Given the description of an element on the screen output the (x, y) to click on. 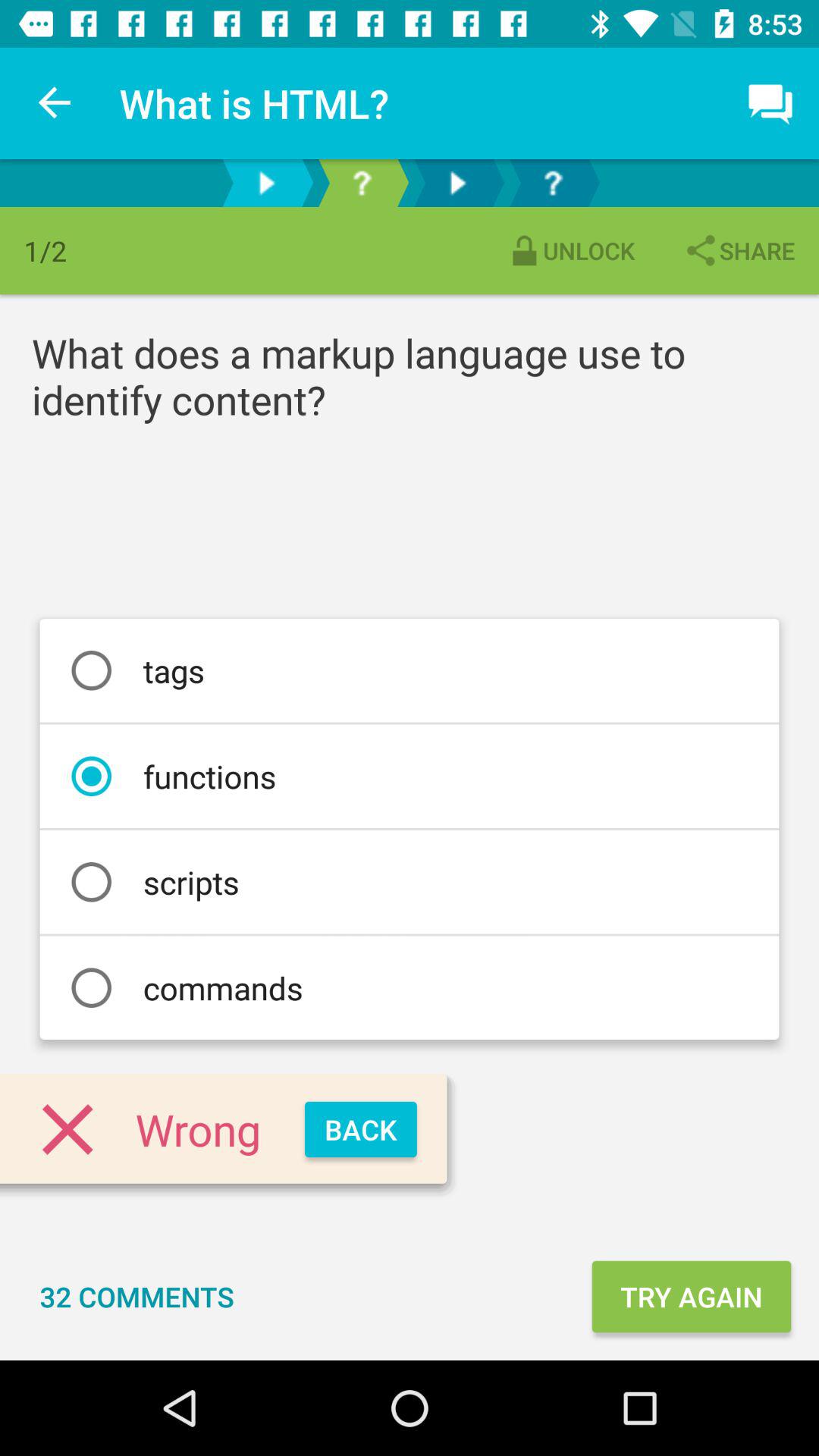
help button (552, 183)
